Given the description of an element on the screen output the (x, y) to click on. 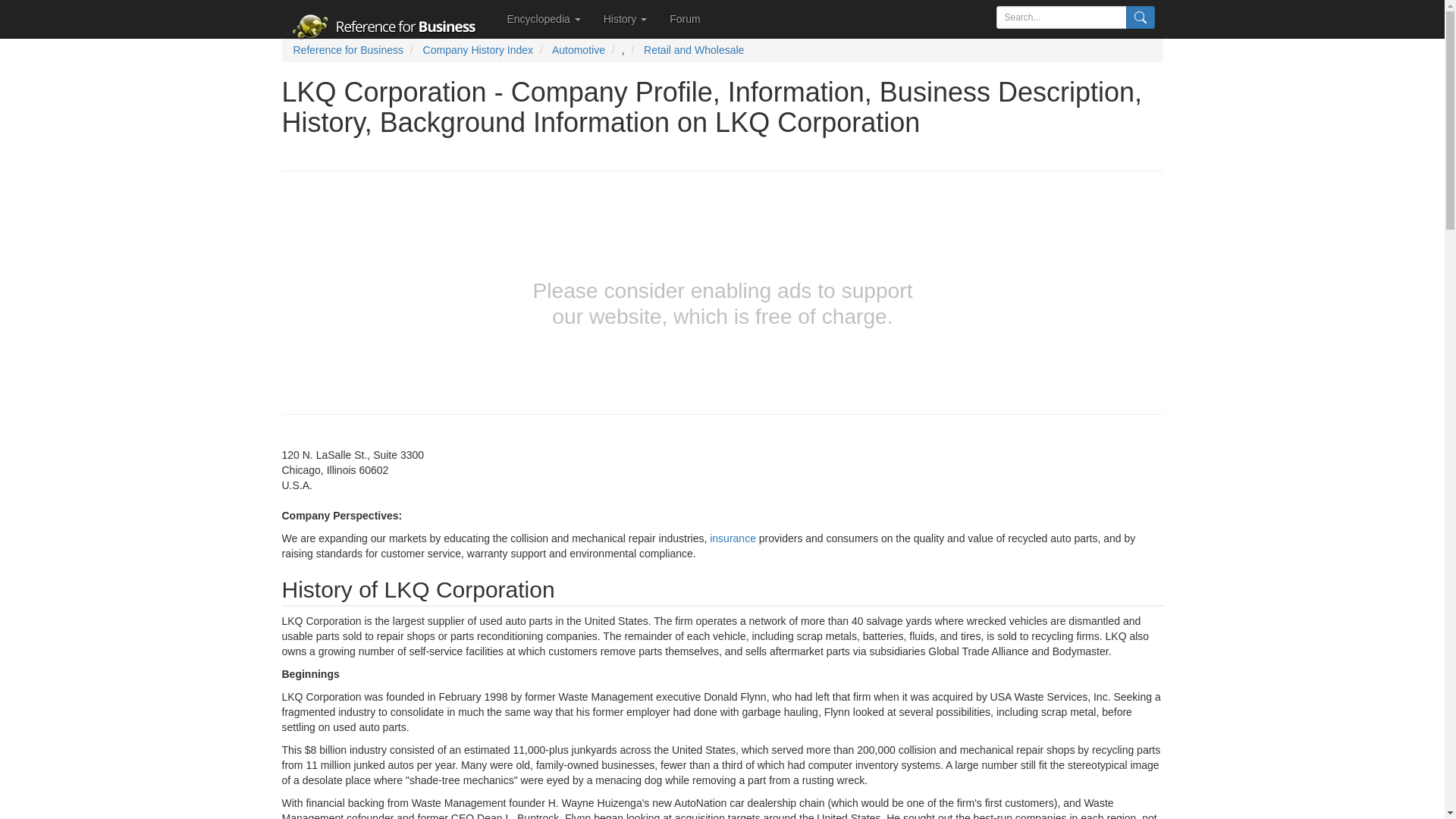
insurance (732, 538)
History (625, 18)
View 'insurance' definition from Wikipedia (732, 538)
Company History Index (478, 50)
Forum (684, 18)
Retail and Wholesale (693, 50)
Reference for Business (347, 50)
Automotive (578, 50)
Encyclopedia (544, 18)
